Given the description of an element on the screen output the (x, y) to click on. 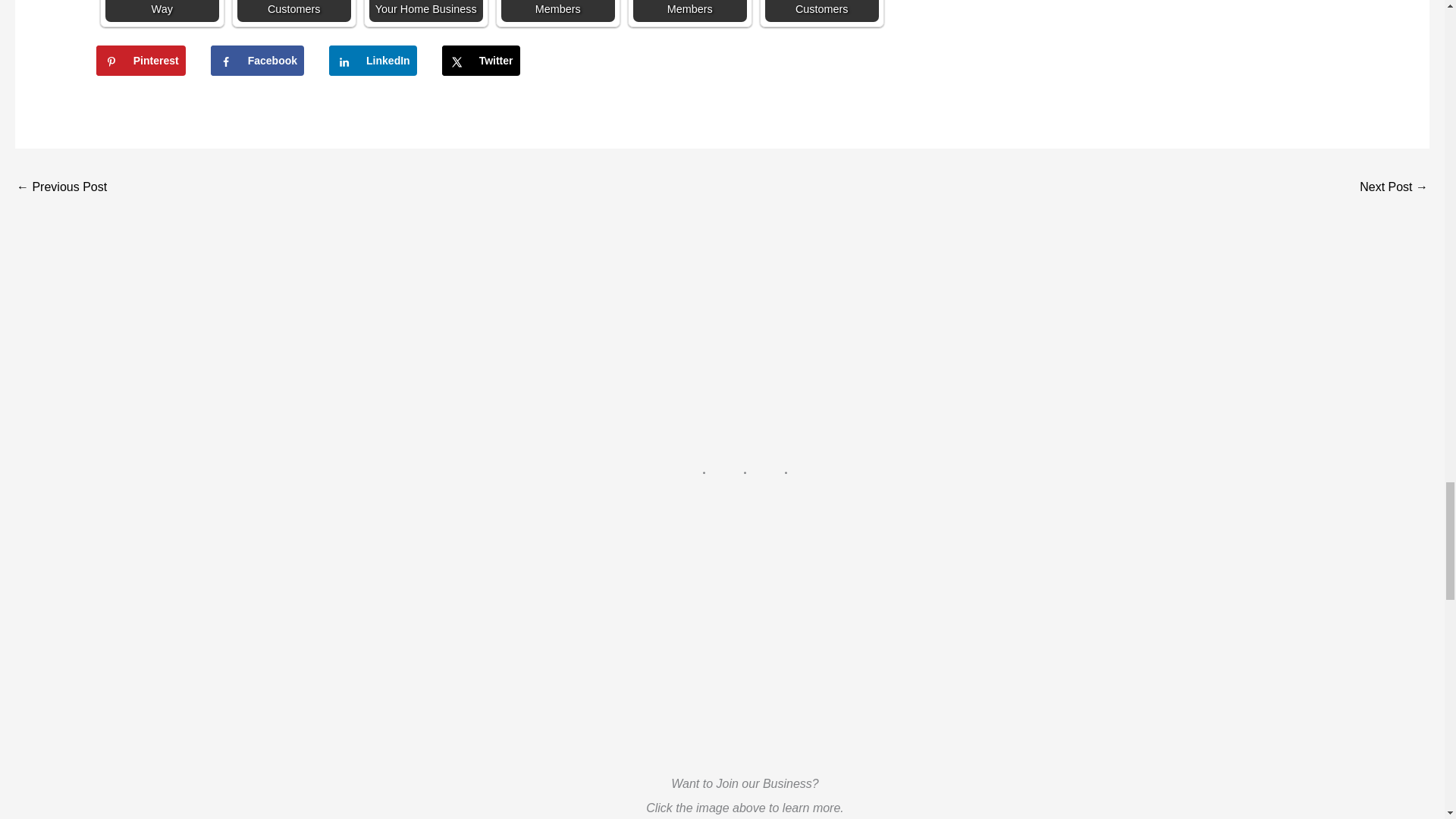
HBS032 Attracting Customers and Team Members (557, 11)
HBS032 Attracting Customers and Team Members (557, 11)
HBS020 Creating Happy Loyal Customers (293, 11)
HBS020 Creating Happy Loyal Customers (822, 11)
HBS020 Creating Happy Loyal Customers (293, 11)
Blogging Tips I Learned Along the Way (161, 11)
Blogging Tips I Learned Along the Way (161, 11)
HBS032 - Attracting Customers and Team Members (689, 11)
Pinterest (141, 60)
